Given the description of an element on the screen output the (x, y) to click on. 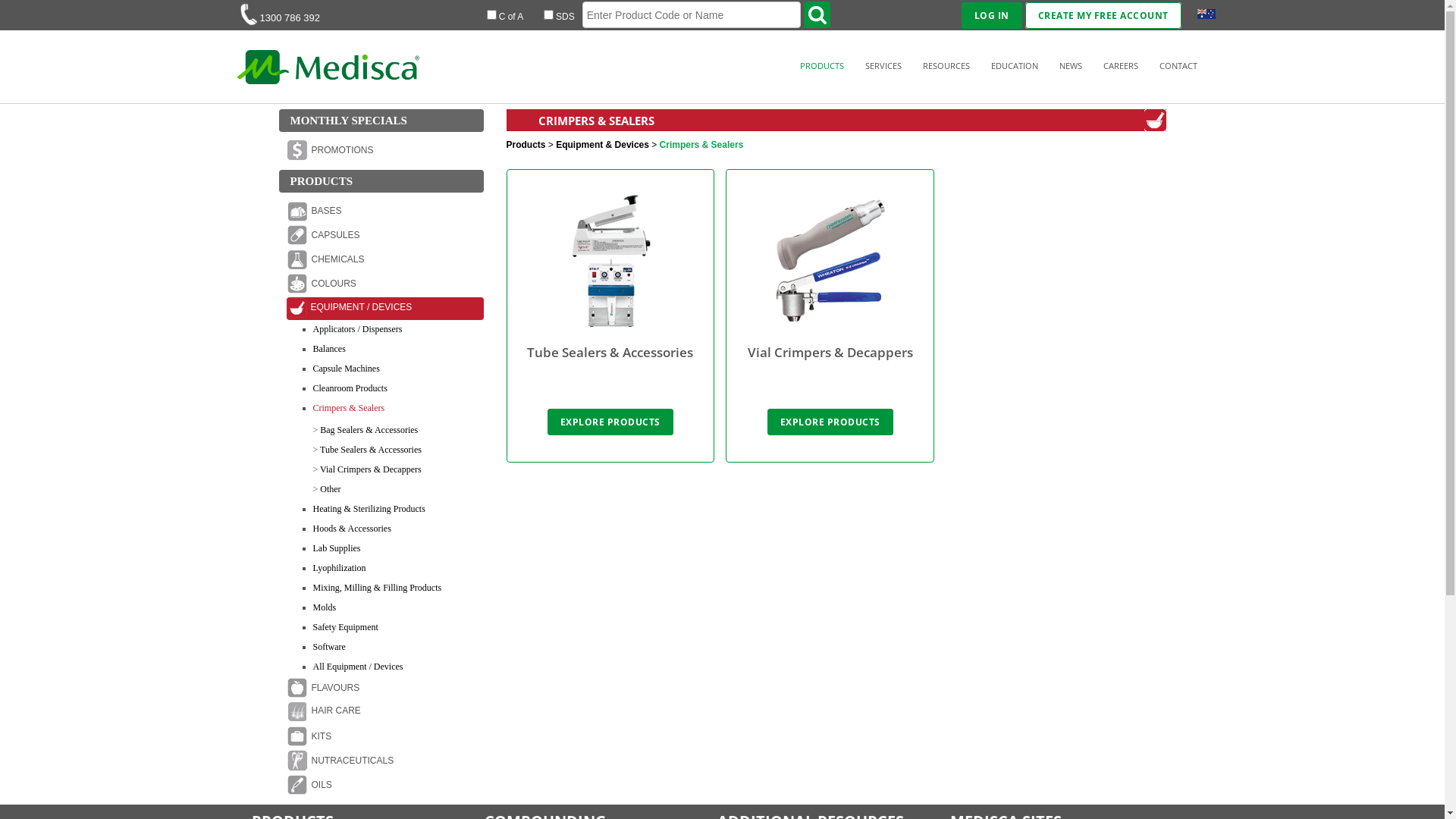
Call MEDISCA now Element type: hover (247, 14)
Other Element type: text (330, 488)
  PROMOTIONS Element type: text (384, 150)
SEARCH Element type: text (31, 11)
Lyophilization Element type: text (338, 567)
Lab Supplies Element type: text (336, 547)
  FLAVOURS Element type: text (384, 688)
Mixing, Milling & Filling Products Element type: text (376, 587)
EXPLORE PRODUCTS Element type: text (610, 421)
MEDISCA Home page Element type: hover (327, 64)
CAREERS Element type: text (1119, 65)
EXPLORE PRODUCTS Element type: text (830, 421)
Search the MEDISCA Website Element type: hover (816, 14)
  NUTRACEUTICALS Element type: text (384, 760)
Balances Element type: text (328, 348)
  CHEMICALS Element type: text (384, 259)
CONTACT Element type: text (1177, 65)
Software Element type: text (328, 646)
EQUIPMENT / DEVICES Element type: text (384, 308)
  COLOURS Element type: text (384, 284)
Applicators / Dispensers Element type: text (356, 328)
Crimpers & Sealers Element type: text (348, 407)
  OILS Element type: text (384, 785)
  BASES Element type: text (384, 211)
PRODUCTS Element type: text (821, 65)
Equipment & Devices Element type: text (602, 144)
SERVICES Element type: text (882, 65)
  HAIR CARE Element type: text (384, 712)
  CAPSULES Element type: text (384, 235)
CREATE MY FREE ACCOUNT Element type: text (1103, 15)
EDUCATION Element type: text (1013, 65)
Cleanroom Products Element type: text (349, 387)
Hoods & Accessories Element type: text (351, 528)
All Equipment / Devices Element type: text (357, 666)
Tube Sealers & Accessories Element type: text (370, 449)
Select your country. Element type: hover (1205, 13)
MEDISCA - Your Trusted Partner in Compounding Element type: hover (327, 79)
  KITS Element type: text (384, 736)
Products Element type: text (526, 144)
Molds Element type: text (323, 607)
Safety Equipment Element type: text (344, 626)
Heating & Sterilizing Products Element type: text (368, 508)
RESOURCES Element type: text (945, 65)
Vial Crimpers & Decappers Element type: text (370, 469)
NEWS Element type: text (1069, 65)
Capsule Machines Element type: text (345, 368)
Bag Sealers & Accessories Element type: text (368, 429)
LOG IN Element type: text (991, 15)
